Given the description of an element on the screen output the (x, y) to click on. 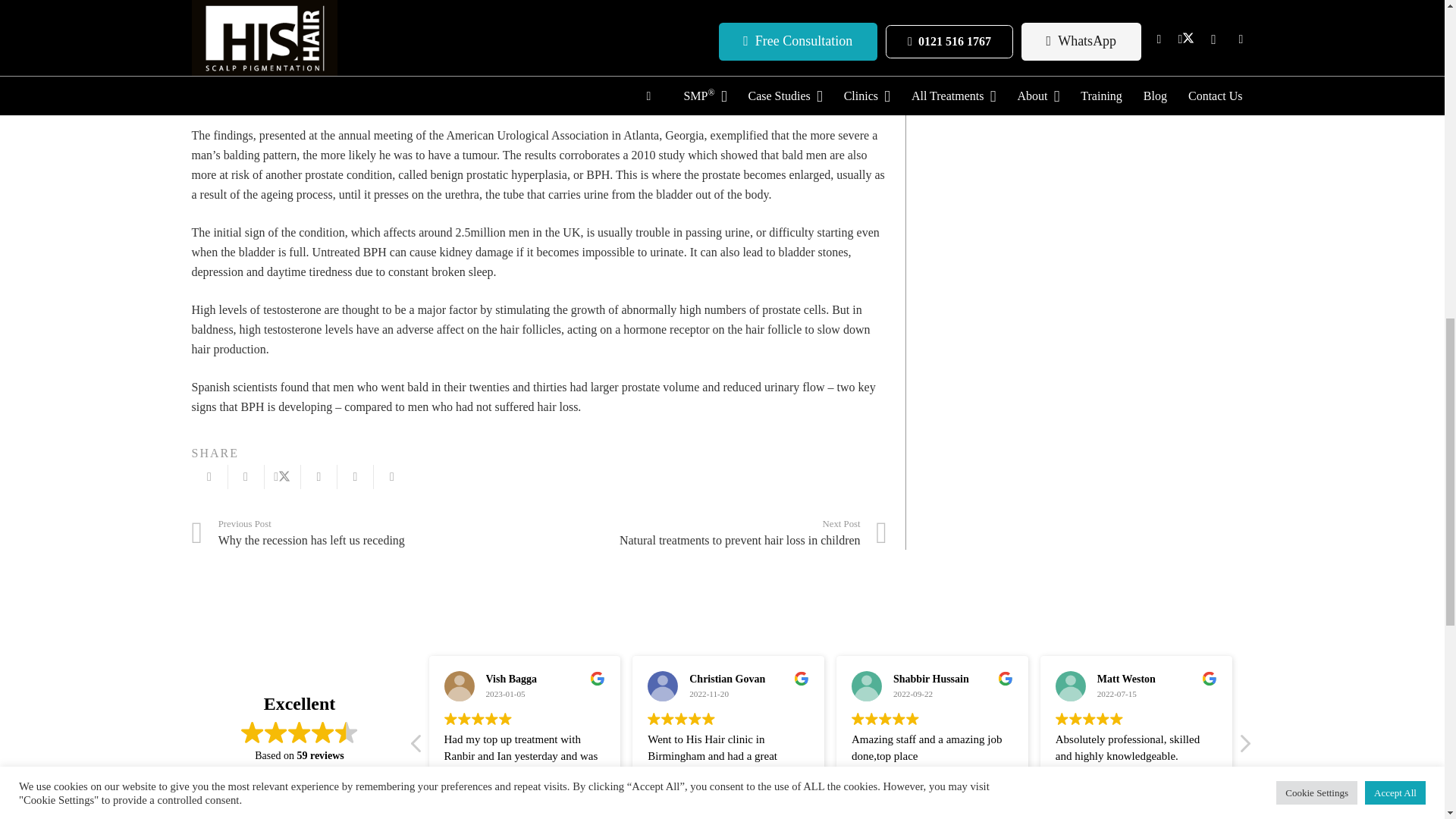
Share this (392, 476)
Share this (319, 476)
Pin this (355, 476)
Why the recession has left us receding (364, 532)
Tweet this (281, 476)
Natural treatments to prevent hair loss in children (712, 532)
Share this (245, 476)
Email this (208, 476)
